Given the description of an element on the screen output the (x, y) to click on. 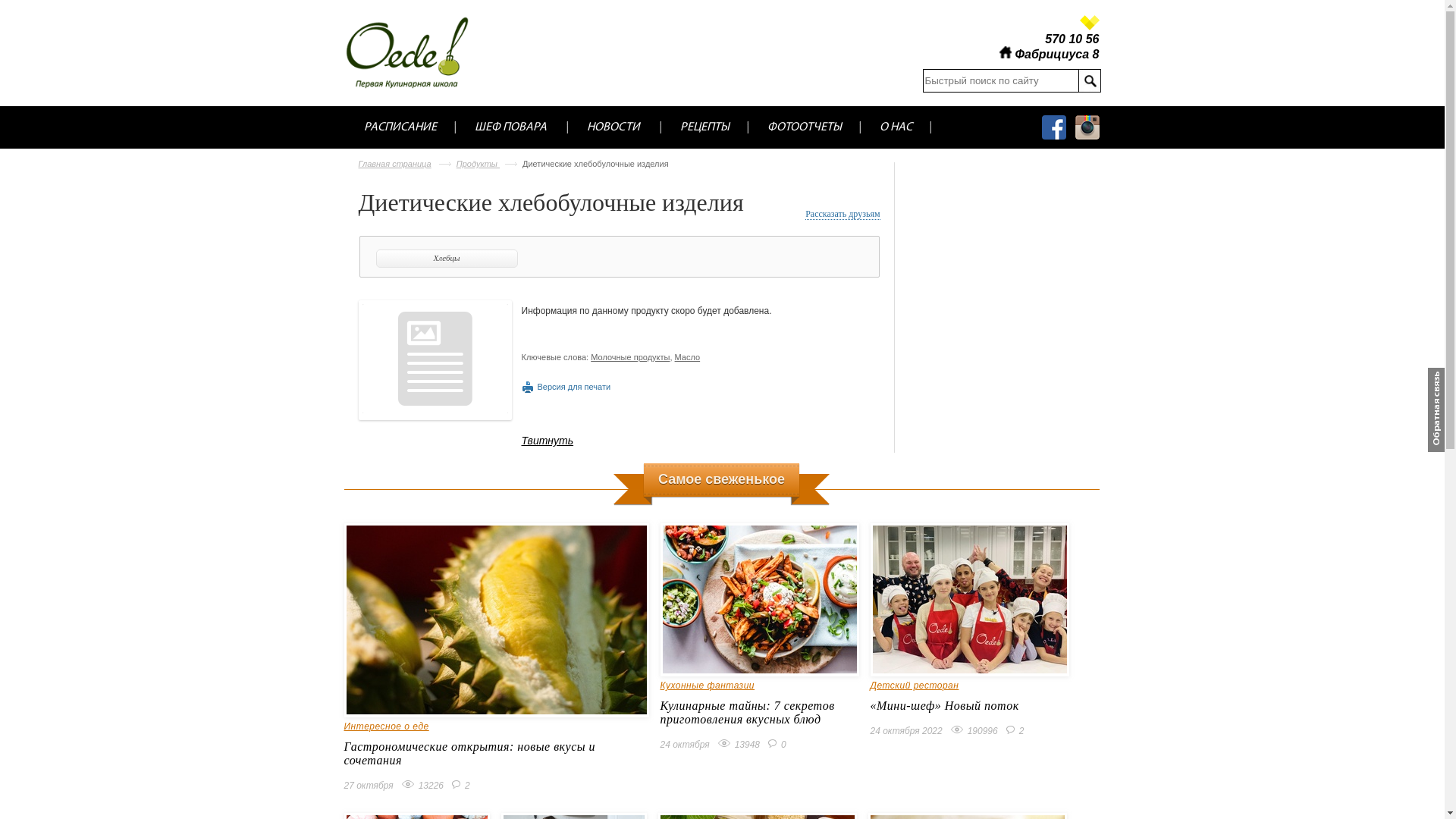
  Element type: text (1090, 80)
Oede.by Element type: hover (416, 52)
